Given the description of an element on the screen output the (x, y) to click on. 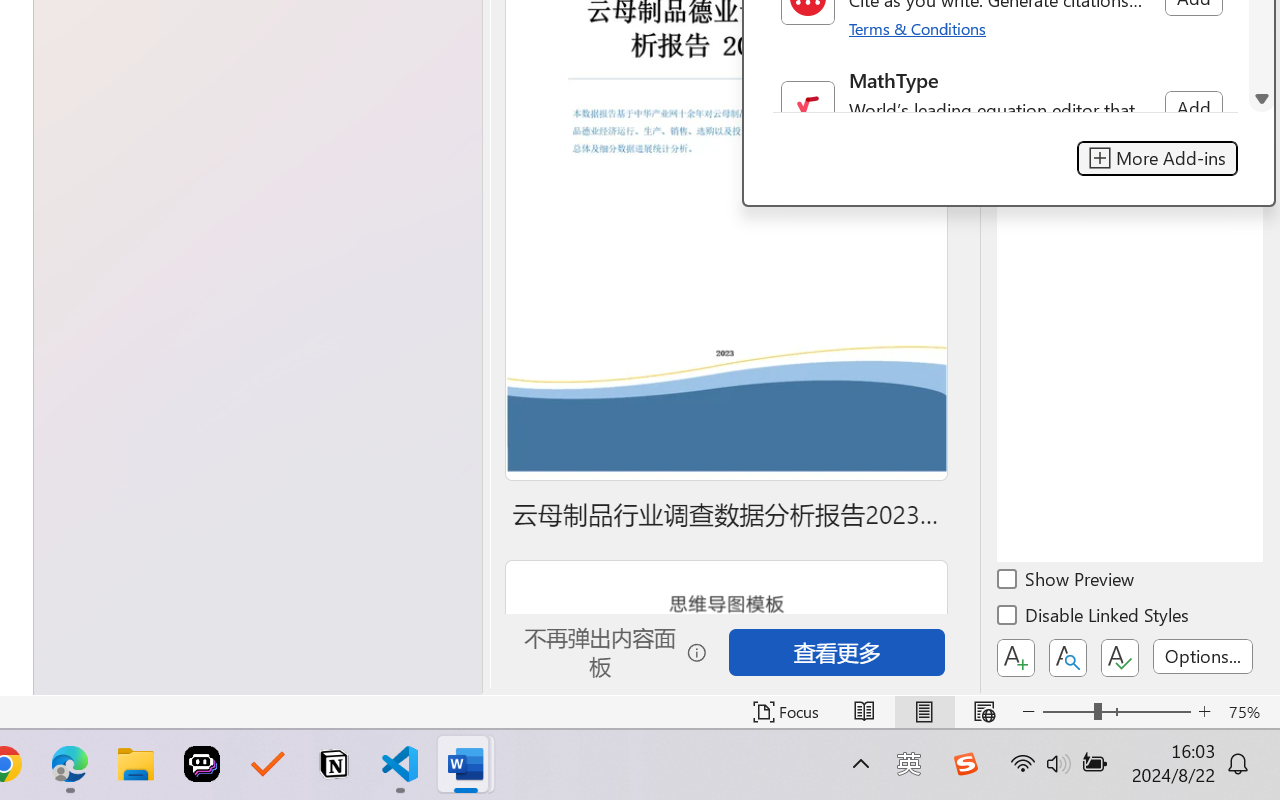
Notion (333, 764)
Show Preview (1067, 582)
More Add-ins (1156, 158)
Zoom (1116, 712)
Read Mode (864, 712)
Options... (1203, 656)
MathType (1004, 108)
Focus  (786, 712)
Zoom Out (1067, 712)
